Given the description of an element on the screen output the (x, y) to click on. 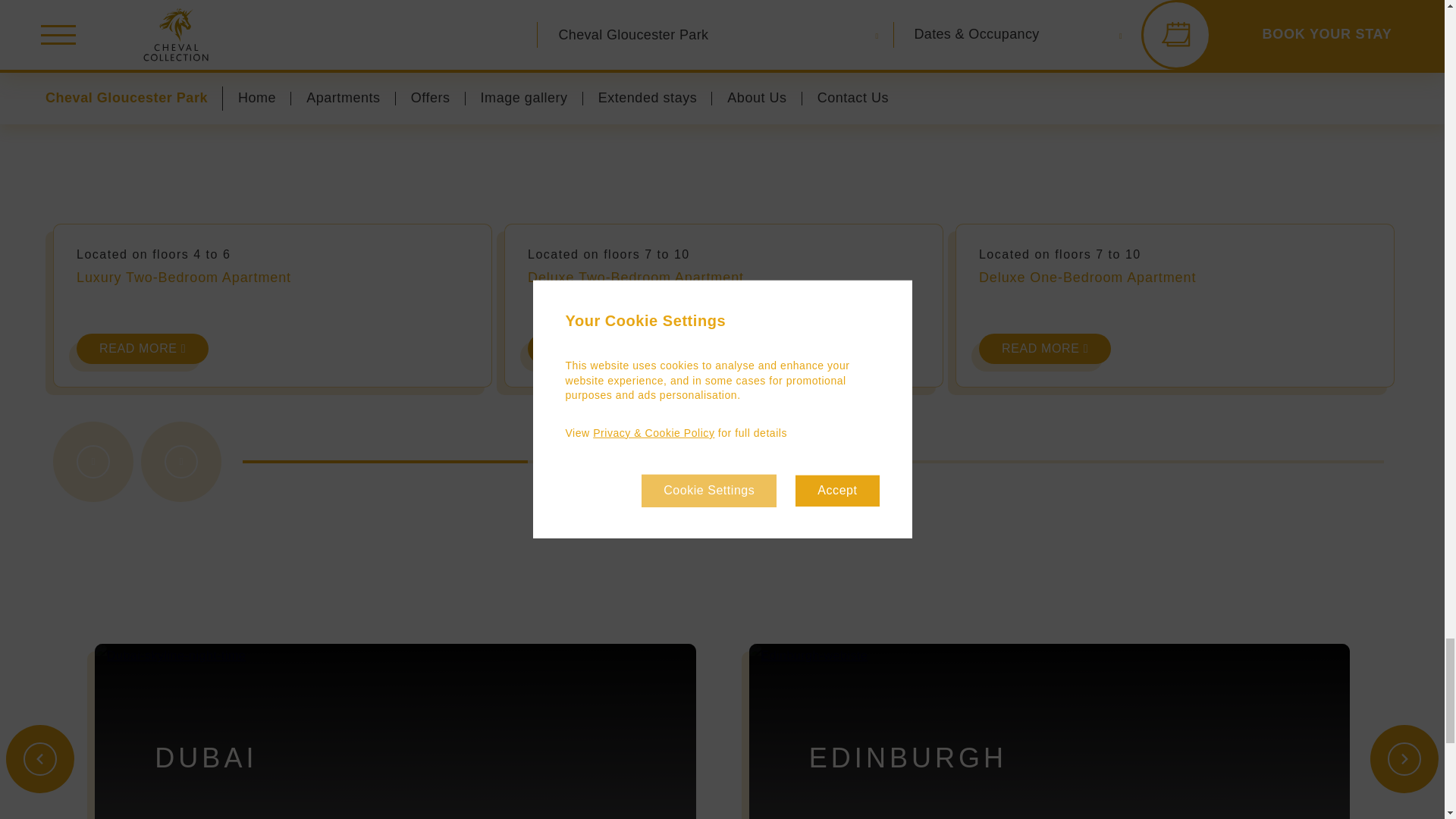
Read More (1044, 348)
Read More (593, 348)
Read More (142, 348)
